Given the description of an element on the screen output the (x, y) to click on. 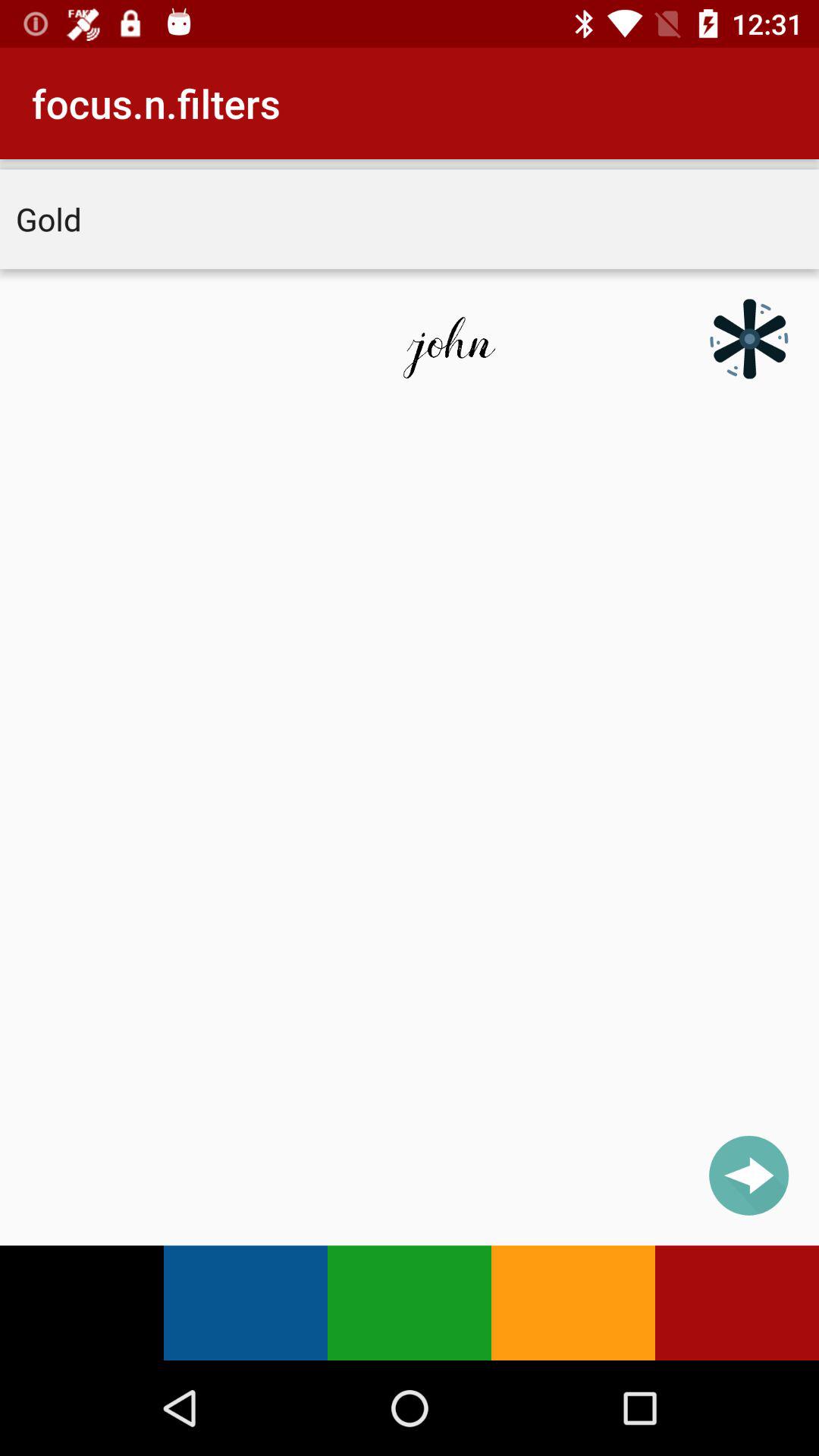
click icon at the top right corner (748, 338)
